Given the description of an element on the screen output the (x, y) to click on. 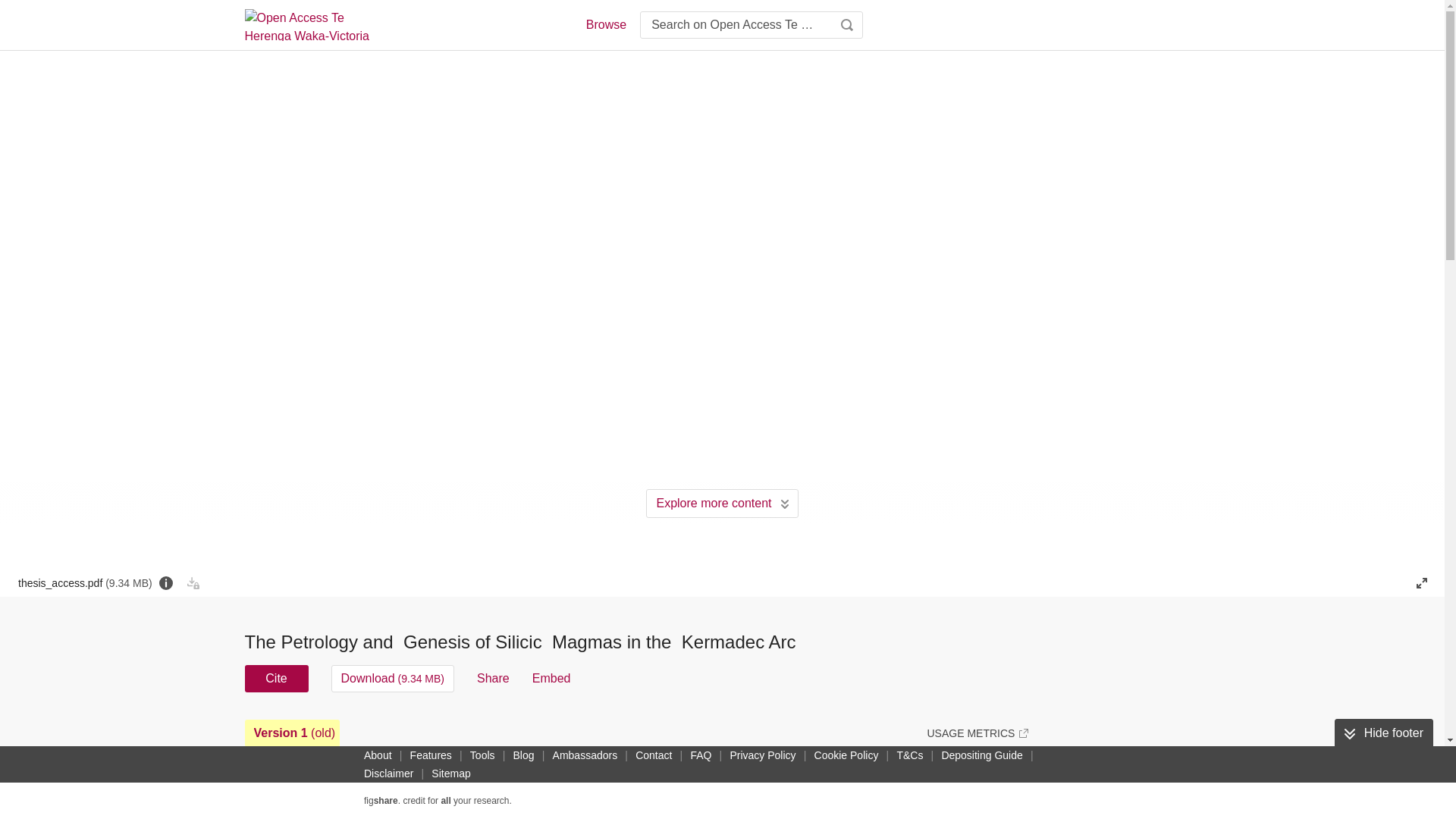
Cite (275, 678)
Explore more content (721, 502)
Browse (605, 24)
Share (493, 678)
Embed (551, 678)
USAGE METRICS (976, 732)
